Given the description of an element on the screen output the (x, y) to click on. 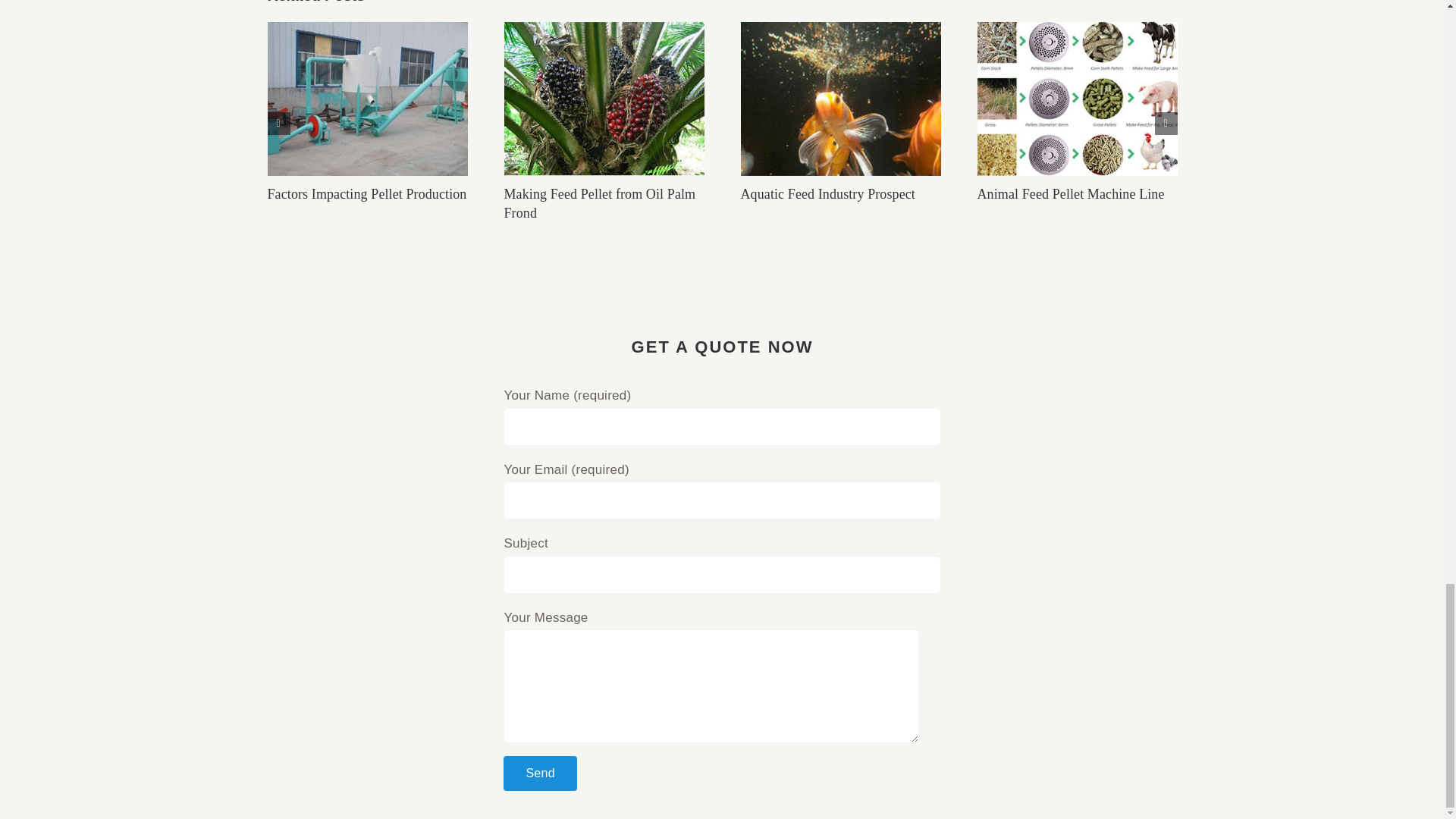
Factors Impacting Pellet Production (365, 193)
Making Feed Pellet from Oil Palm Frond (599, 203)
Factors Impacting Pellet Production (365, 193)
Animal Feed Pellet Machine Line (1069, 193)
Making Feed Pellet from Oil Palm Frond (599, 203)
Send (539, 772)
Aquatic Feed Industry Prospect (826, 193)
